Given the description of an element on the screen output the (x, y) to click on. 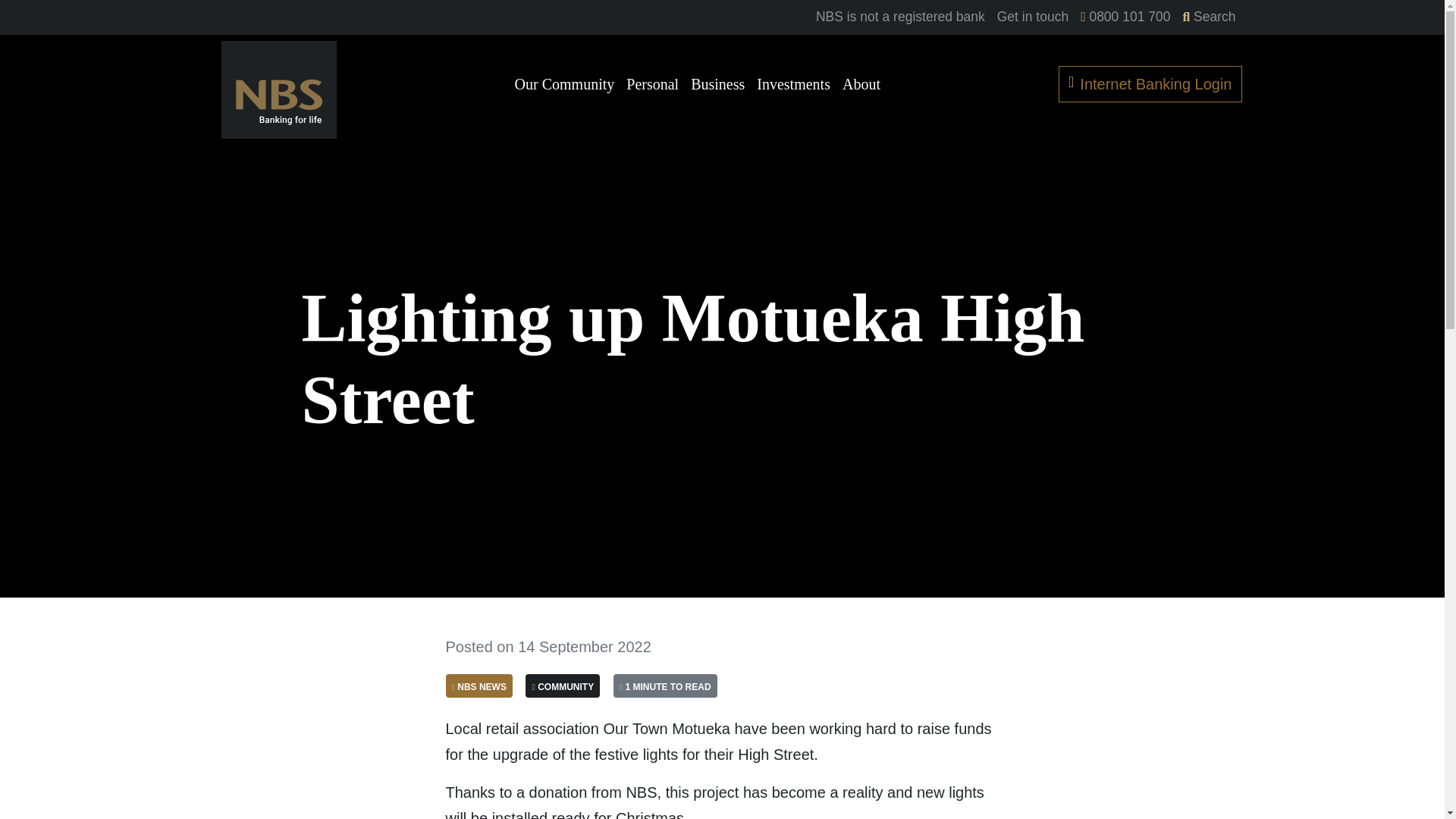
Our Community (564, 83)
Get in touch (1032, 17)
Search (1208, 17)
0800 101 700 (1125, 17)
NBS News (478, 685)
Community (562, 685)
NBS (278, 89)
